Given the description of an element on the screen output the (x, y) to click on. 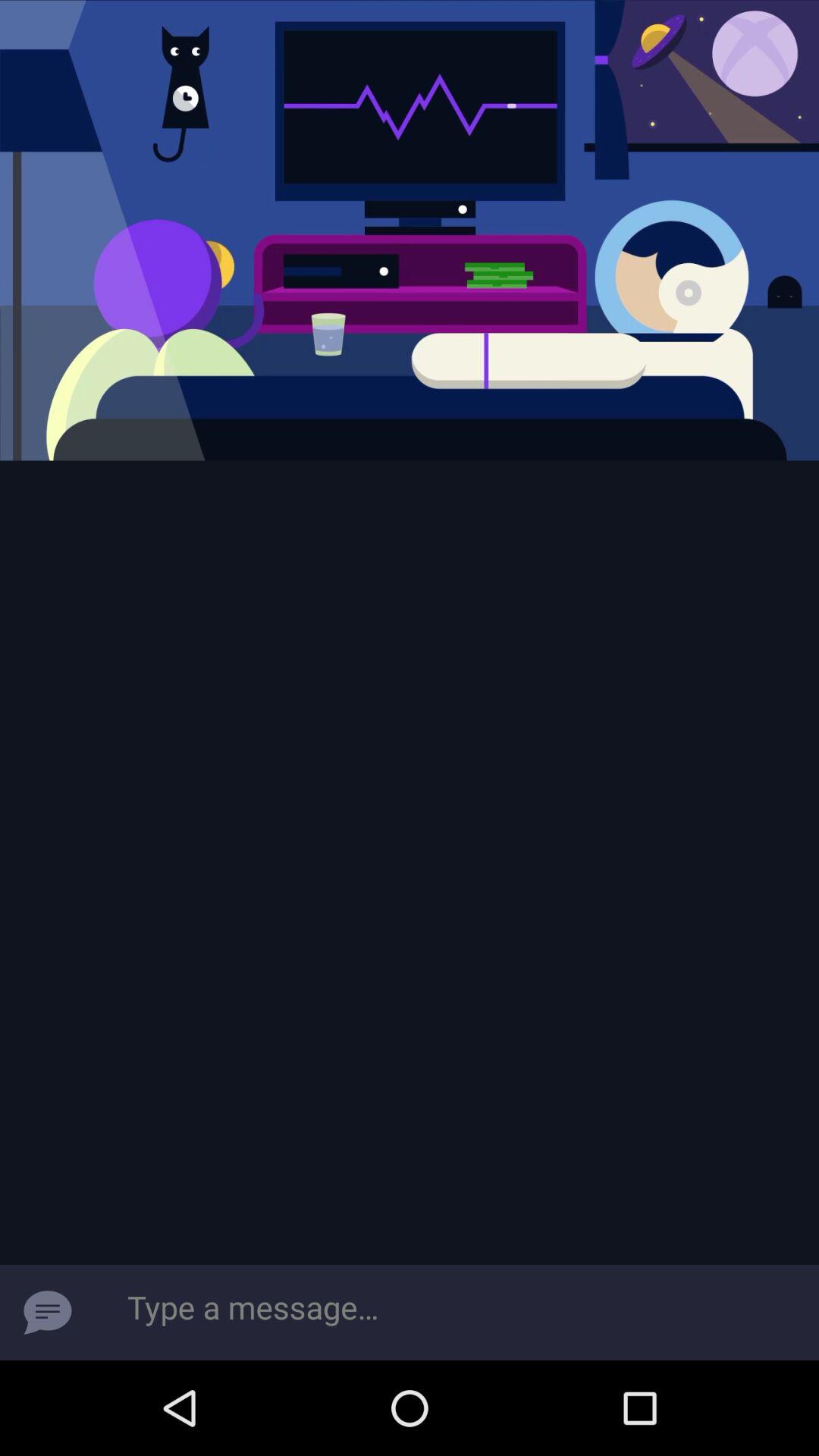
type a message (47, 1312)
